Given the description of an element on the screen output the (x, y) to click on. 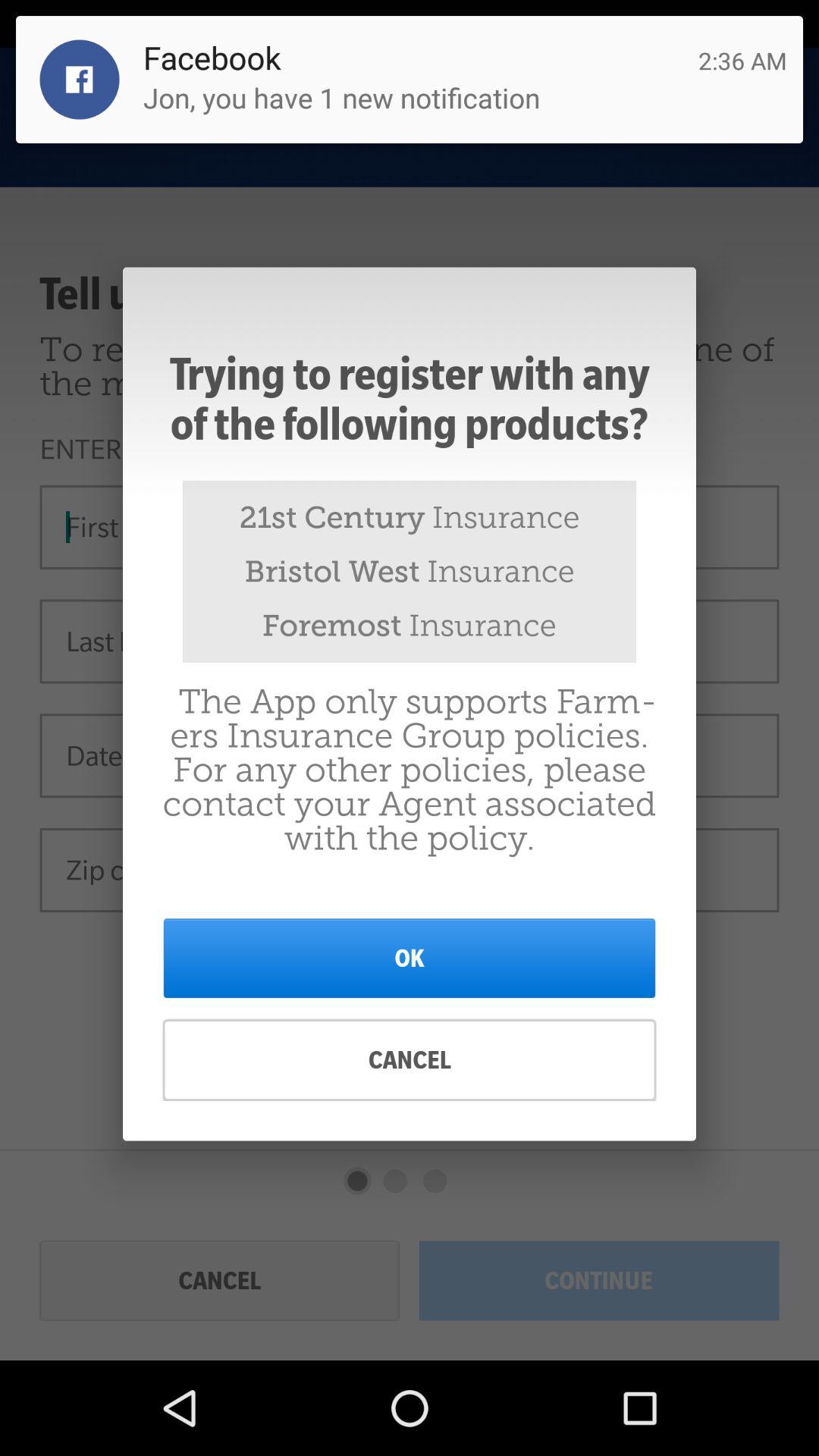
choose icon below the app only item (409, 958)
